Given the description of an element on the screen output the (x, y) to click on. 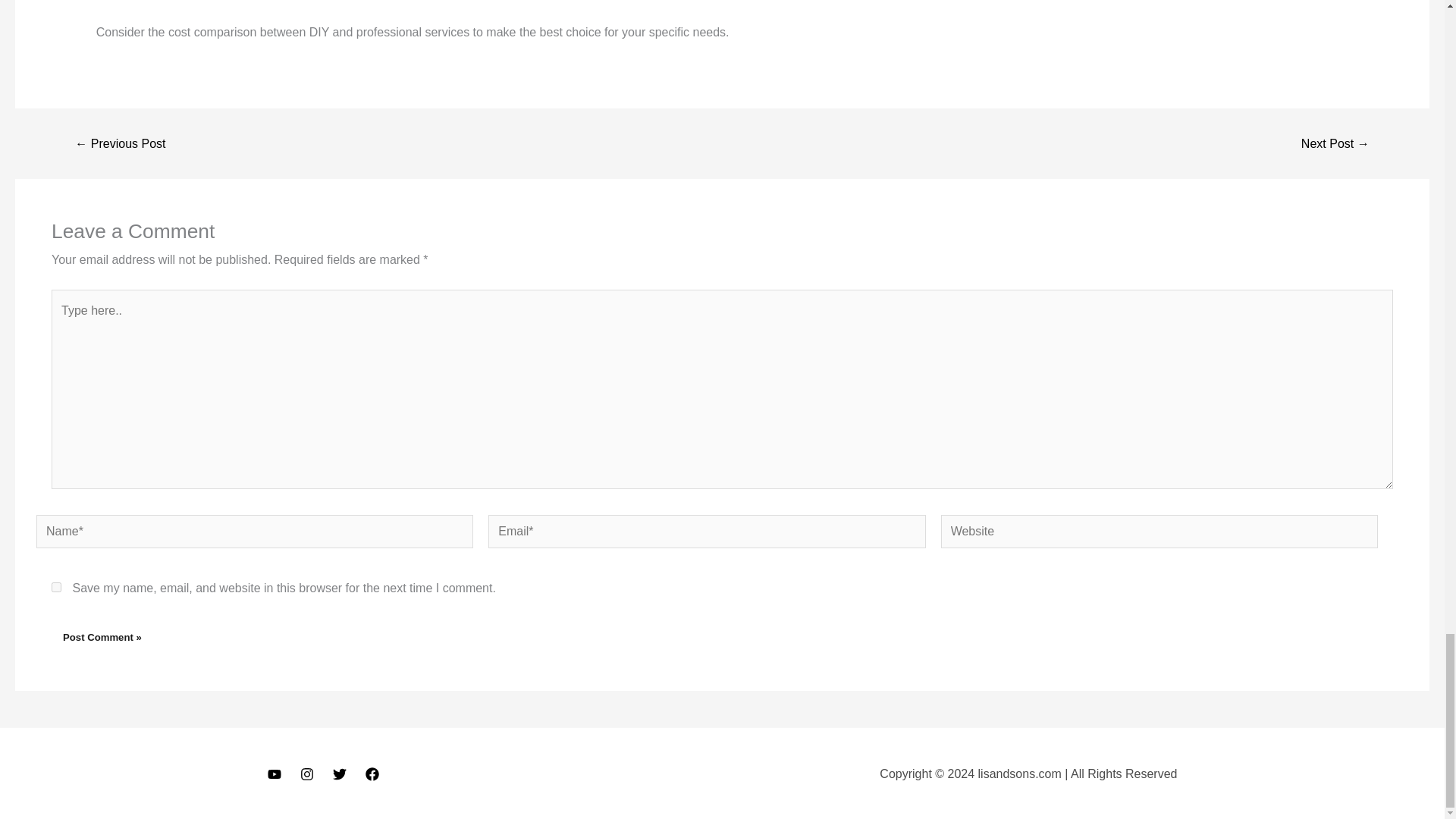
yes (55, 587)
Are Timber Doors Energy-Efficient? (119, 143)
How Can I Reduce Noise With a Timber Door? (1334, 143)
